Given the description of an element on the screen output the (x, y) to click on. 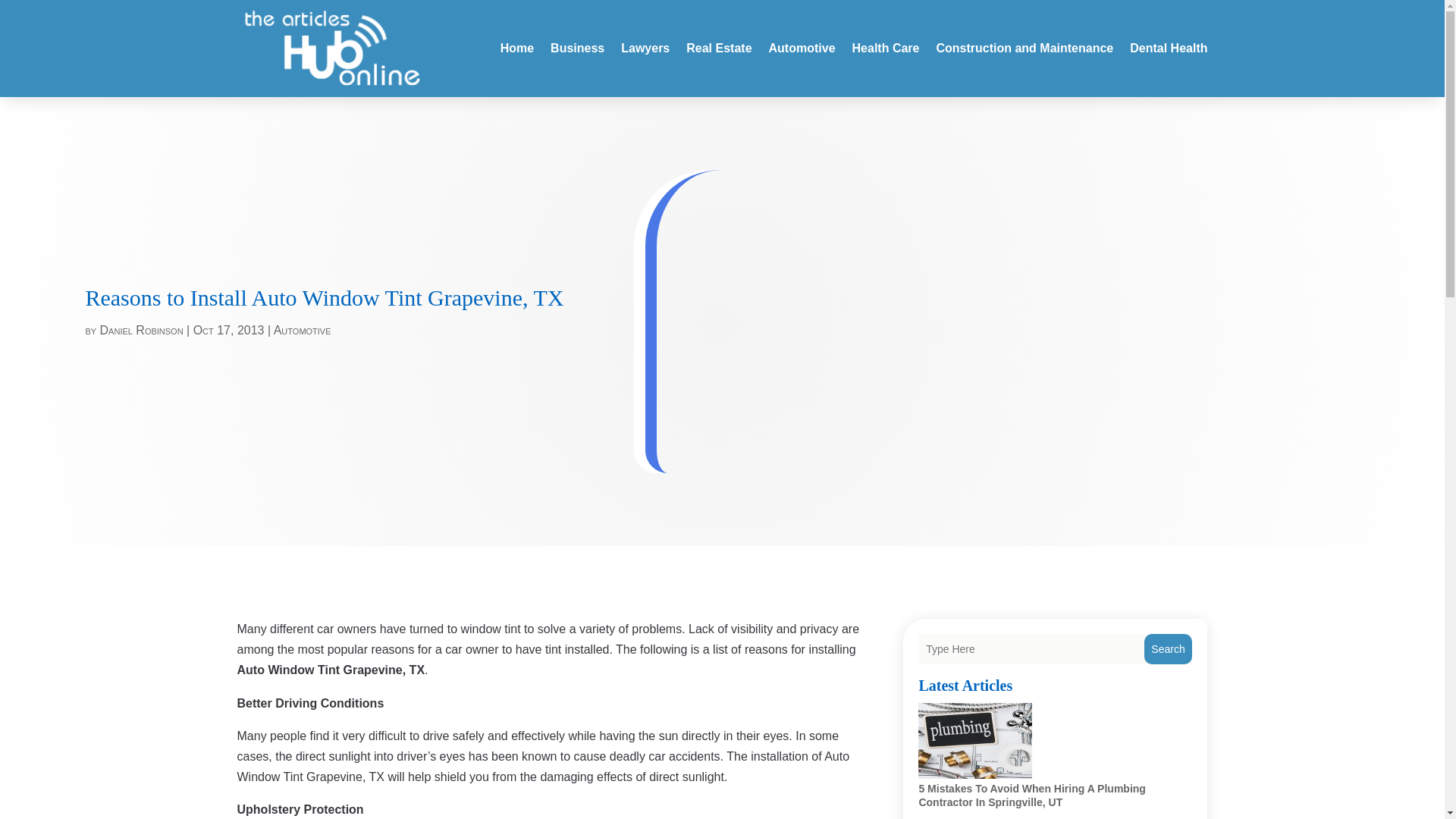
Search (1168, 648)
Dental Health (1168, 48)
Automotive (302, 329)
Construction and Maintenance (1024, 48)
Daniel Robinson (141, 329)
Posts by Daniel Robinson (141, 329)
